Given the description of an element on the screen output the (x, y) to click on. 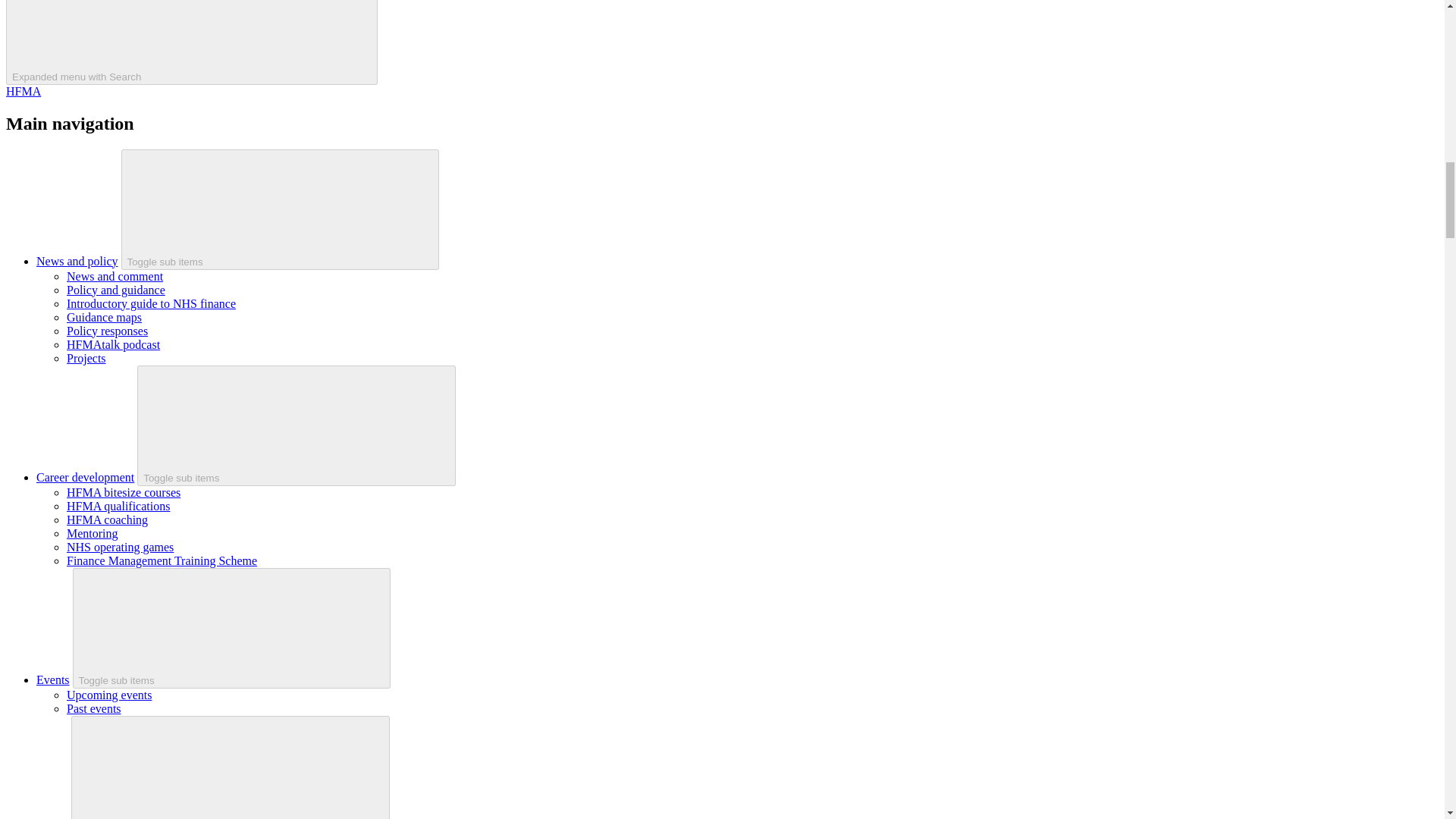
Return to the homepage (22, 91)
